Given the description of an element on the screen output the (x, y) to click on. 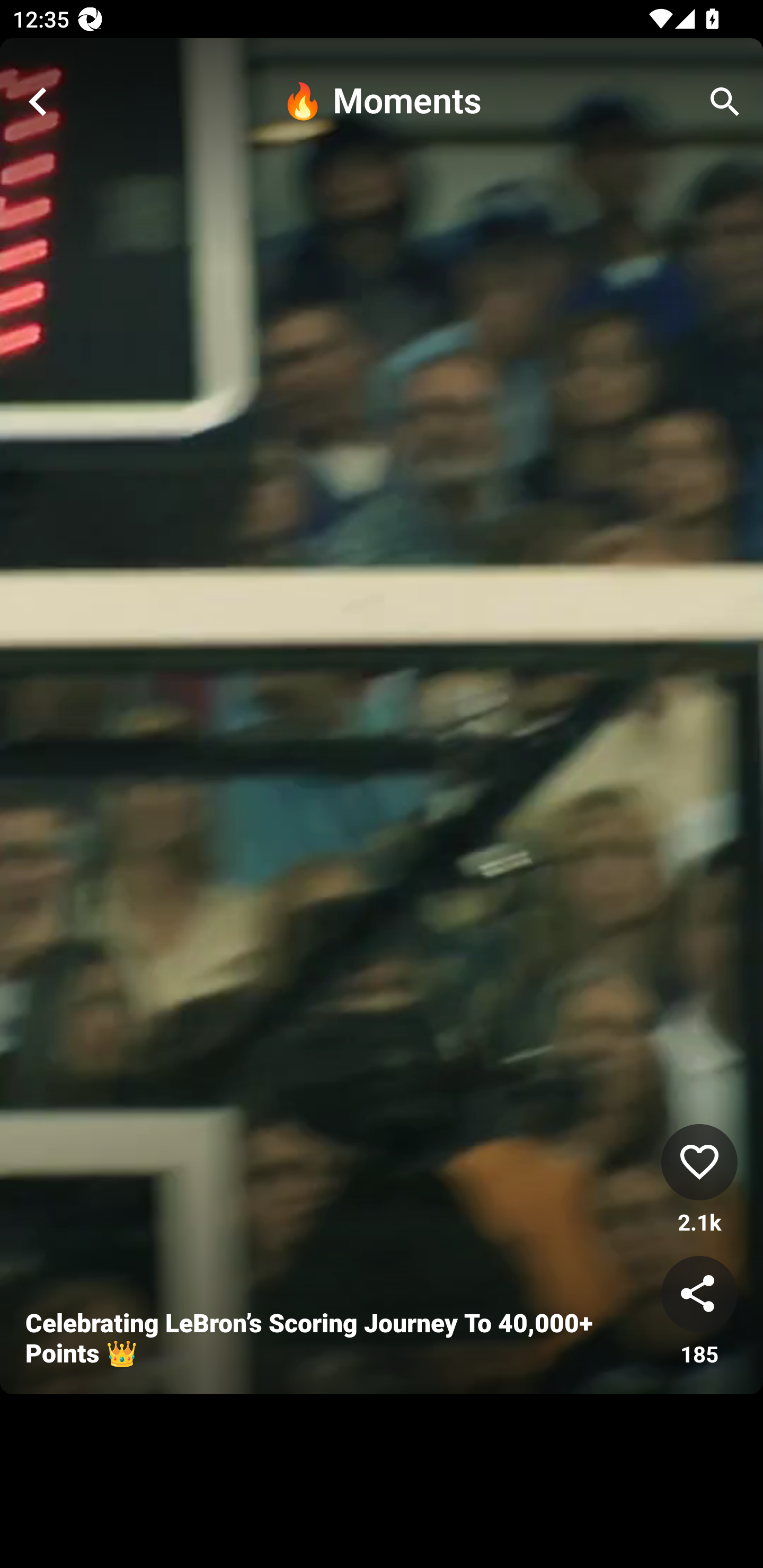
close (38, 101)
search (724, 101)
like 2.1k 2131 Likes (699, 1180)
share 185 185 Shares (699, 1311)
